Given the description of an element on the screen output the (x, y) to click on. 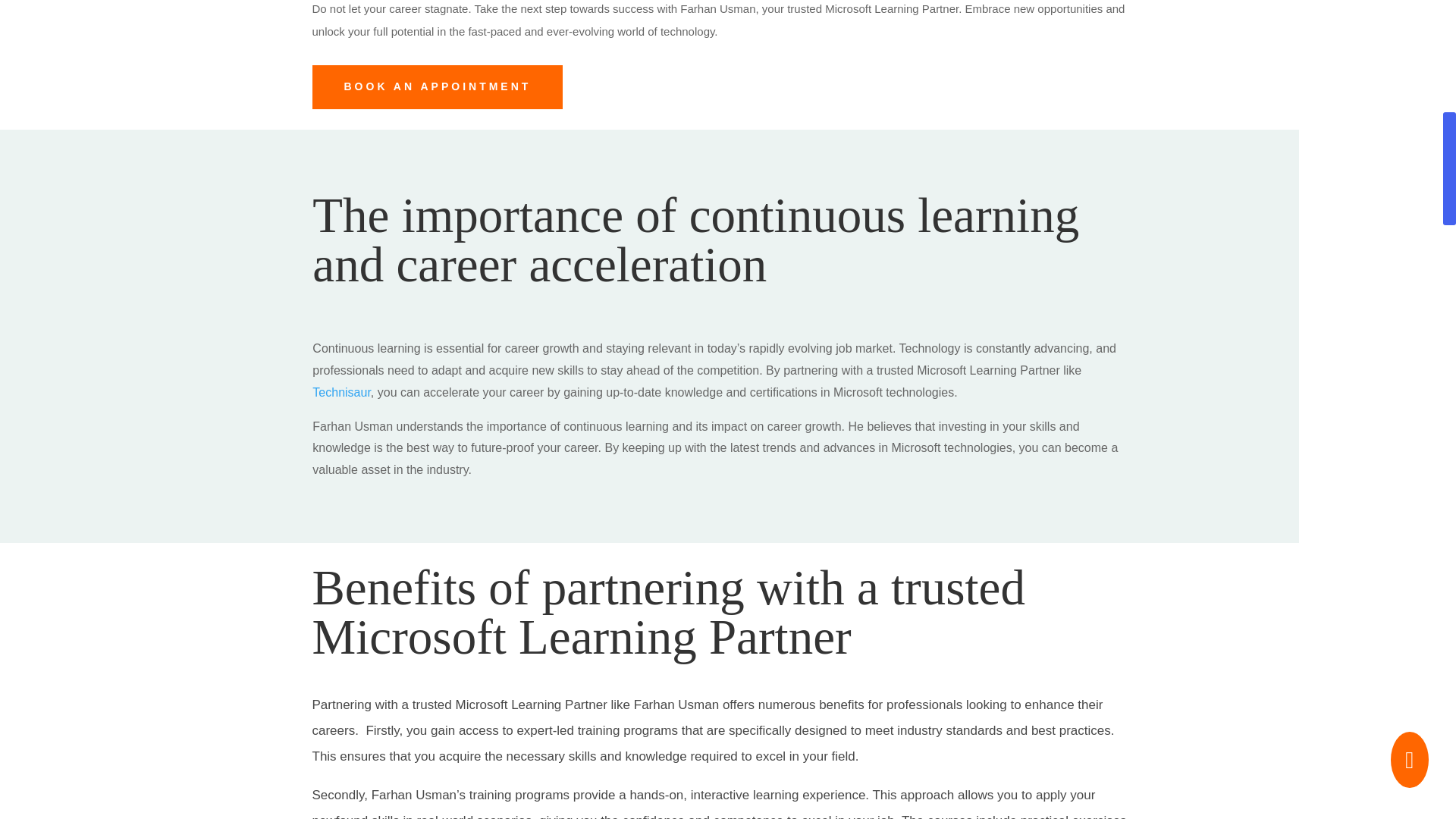
Technisaur (342, 391)
BOOK AN APPOINTMENT (438, 86)
